Given the description of an element on the screen output the (x, y) to click on. 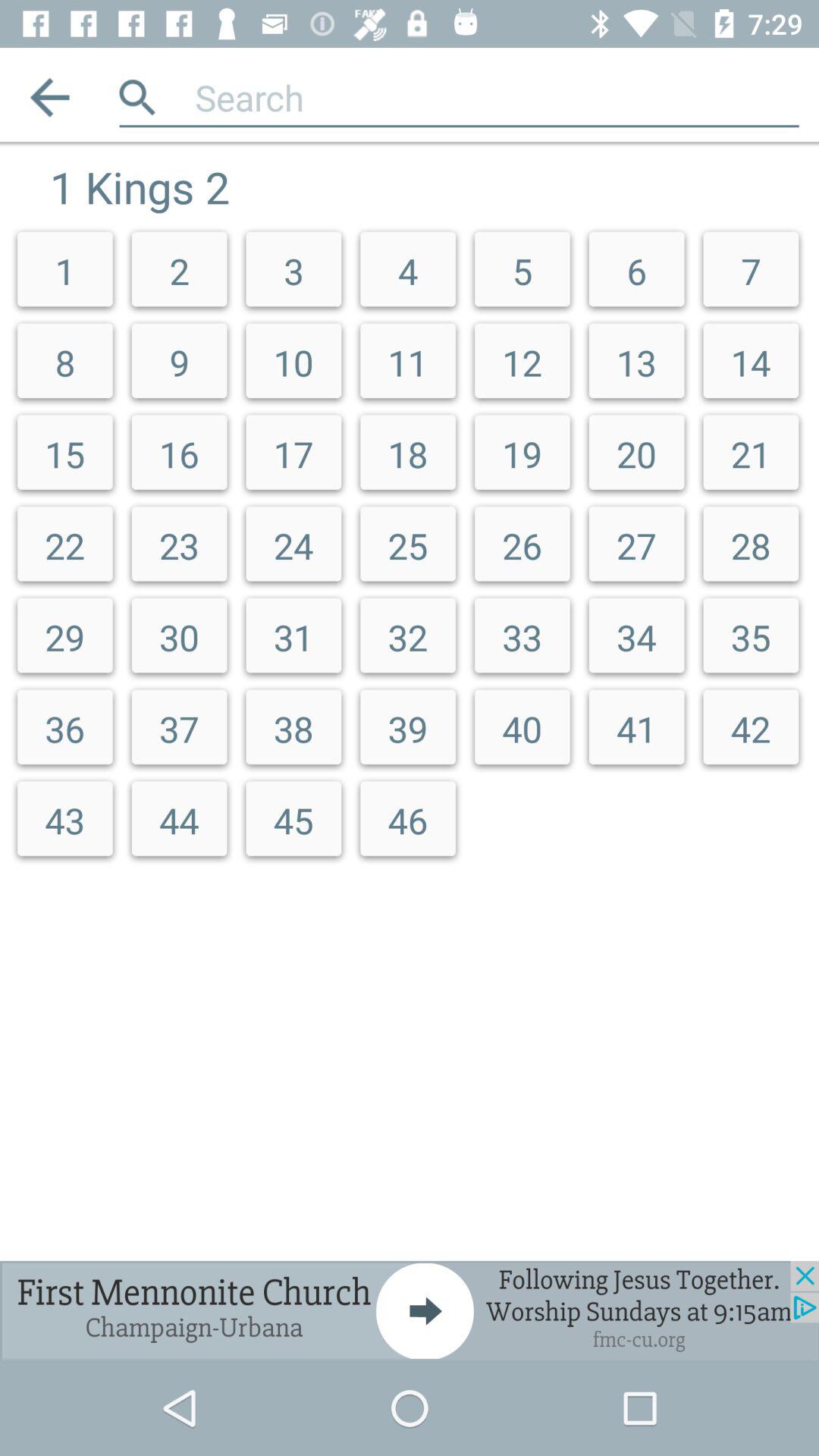
view advertisement (409, 1310)
